Given the description of an element on the screen output the (x, y) to click on. 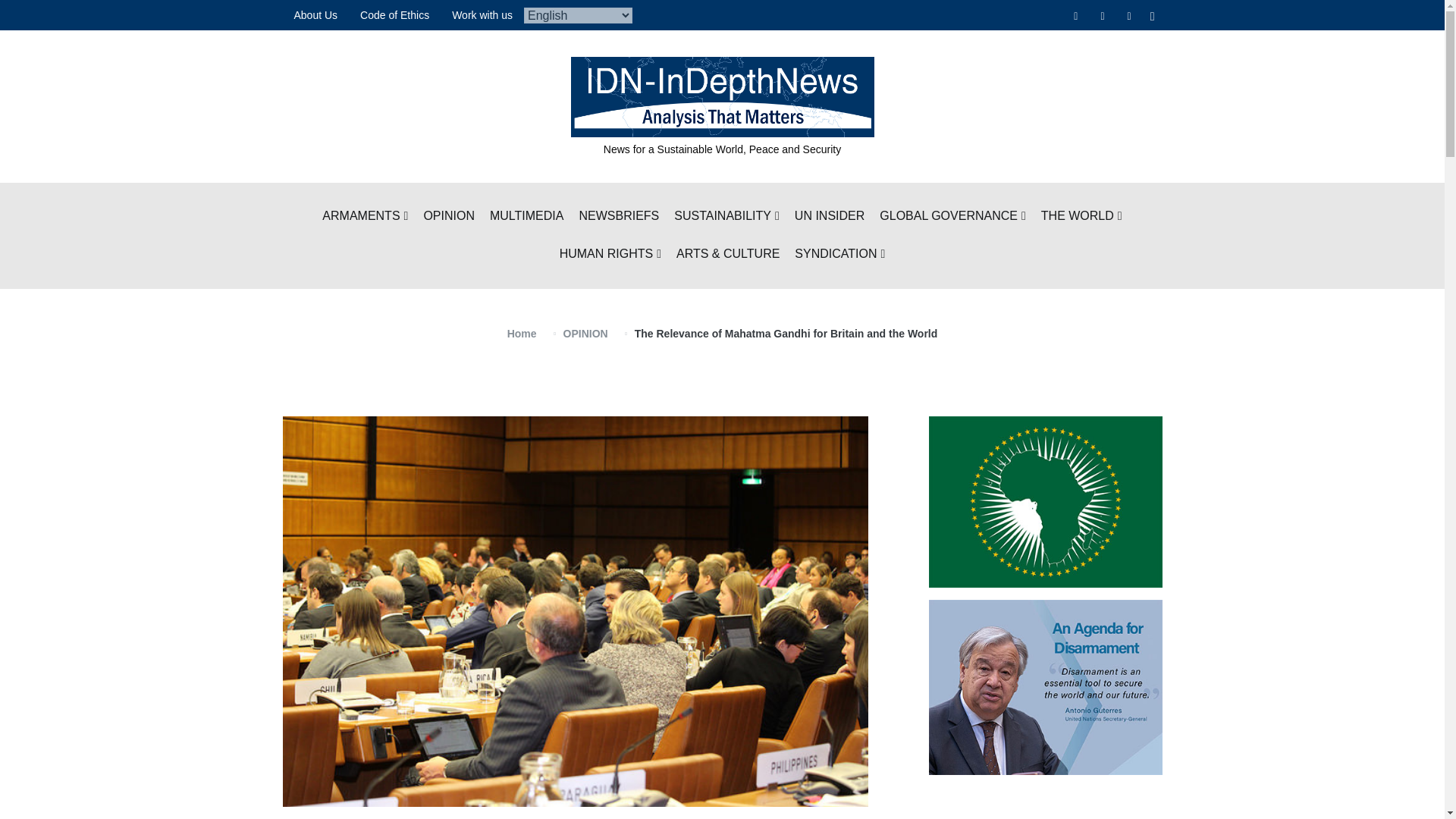
SUSTAINABILITY (726, 216)
Work with us (482, 14)
Code of Ethics (395, 14)
NEWSBRIEFS (618, 216)
OPINION (448, 216)
GLOBAL GOVERNANCE (952, 216)
Facebook (1075, 15)
UN INSIDER (829, 216)
About Us (315, 14)
MULTIMEDIA (526, 216)
ARMAMENTS (364, 216)
LinkedIn (1129, 15)
Twitter (1102, 15)
